Given the description of an element on the screen output the (x, y) to click on. 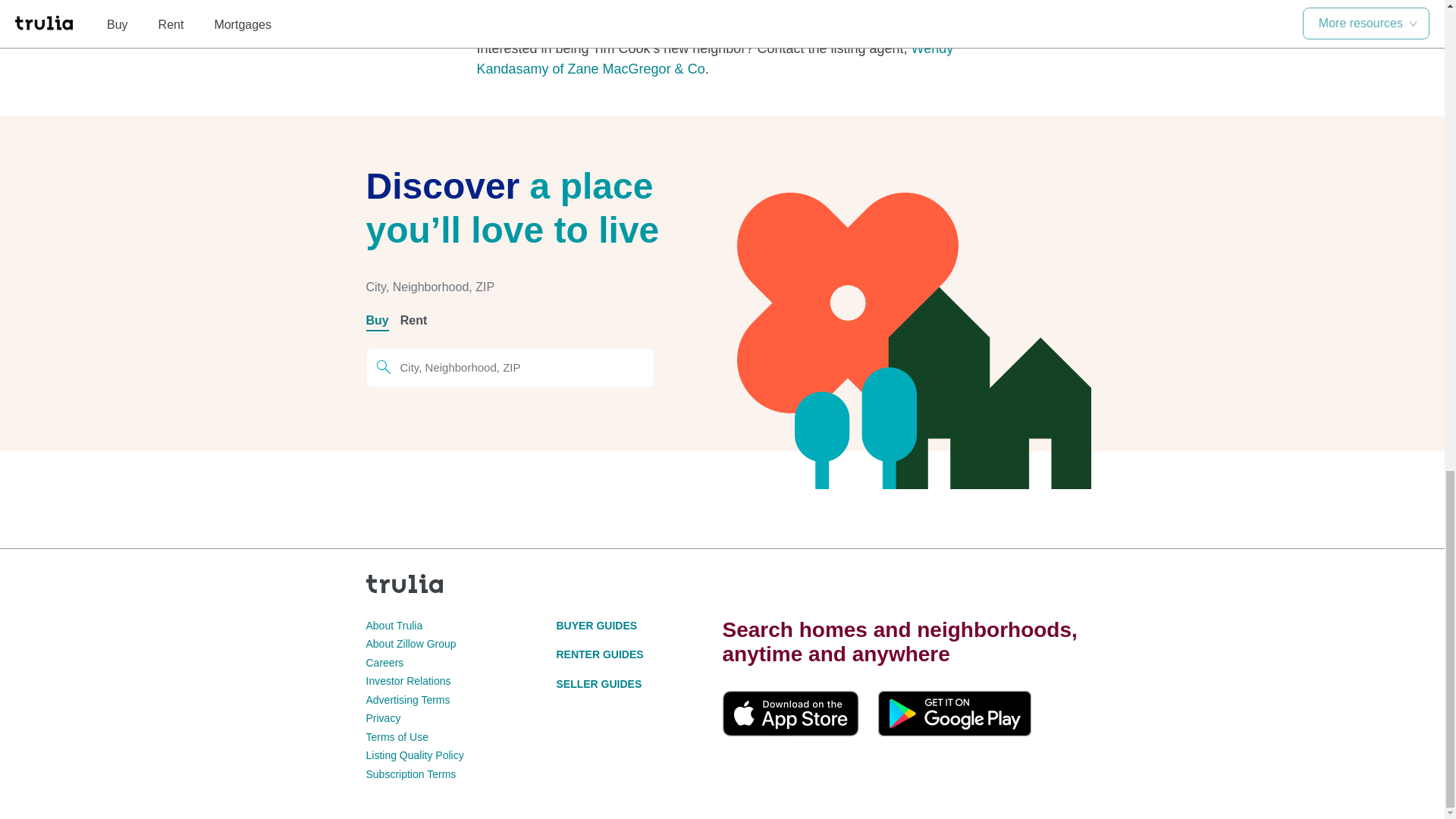
Download Apple App (790, 713)
Larry Ellison (861, 1)
Mark Zuckerberg (706, 11)
About Trulia (393, 625)
Download Android App (953, 713)
Marissa Mayer (620, 15)
Elon Musk (784, 1)
